Given the description of an element on the screen output the (x, y) to click on. 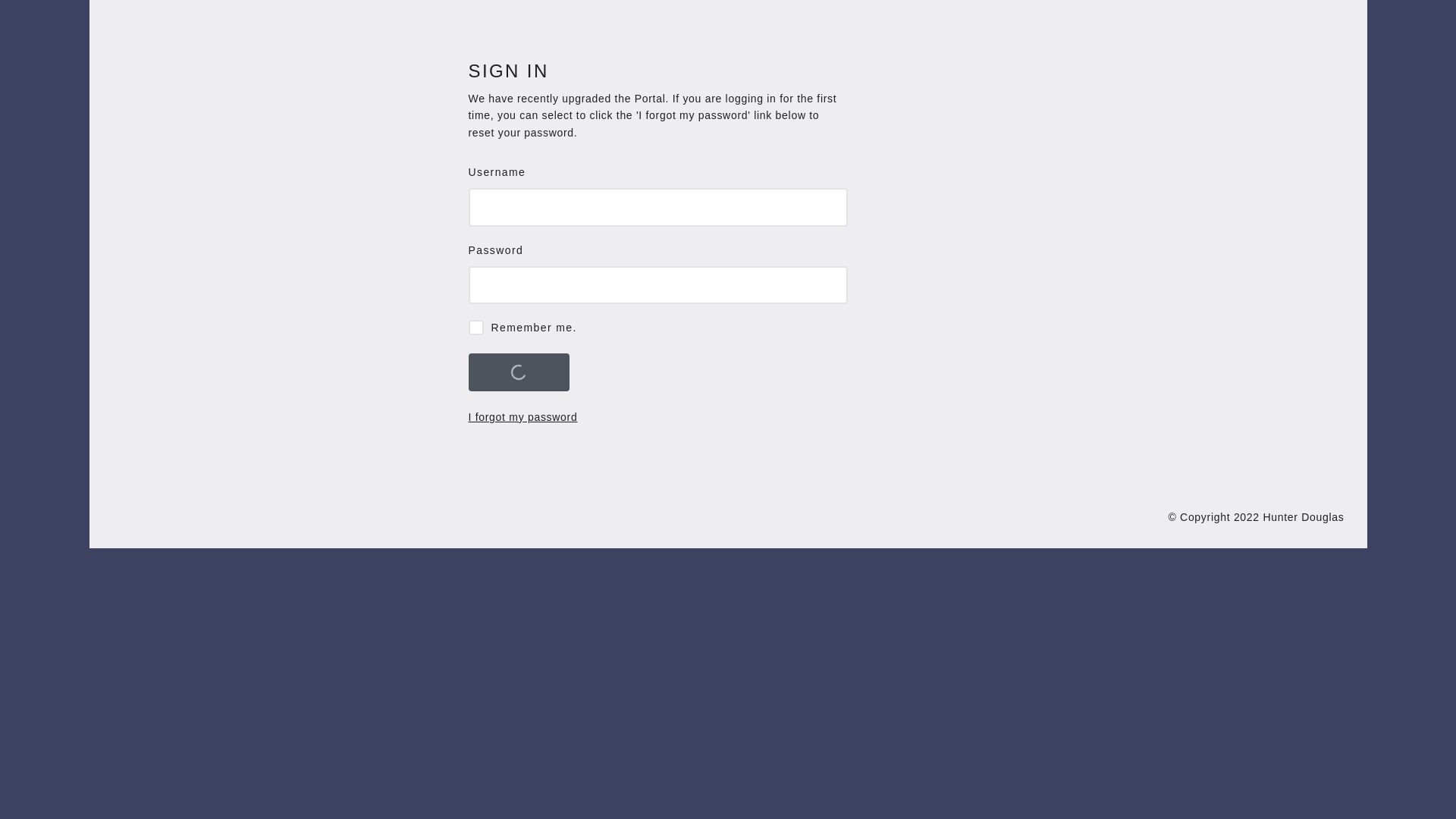
I forgot my password Element type: text (522, 417)
SIGN IN Element type: text (518, 372)
